Given the description of an element on the screen output the (x, y) to click on. 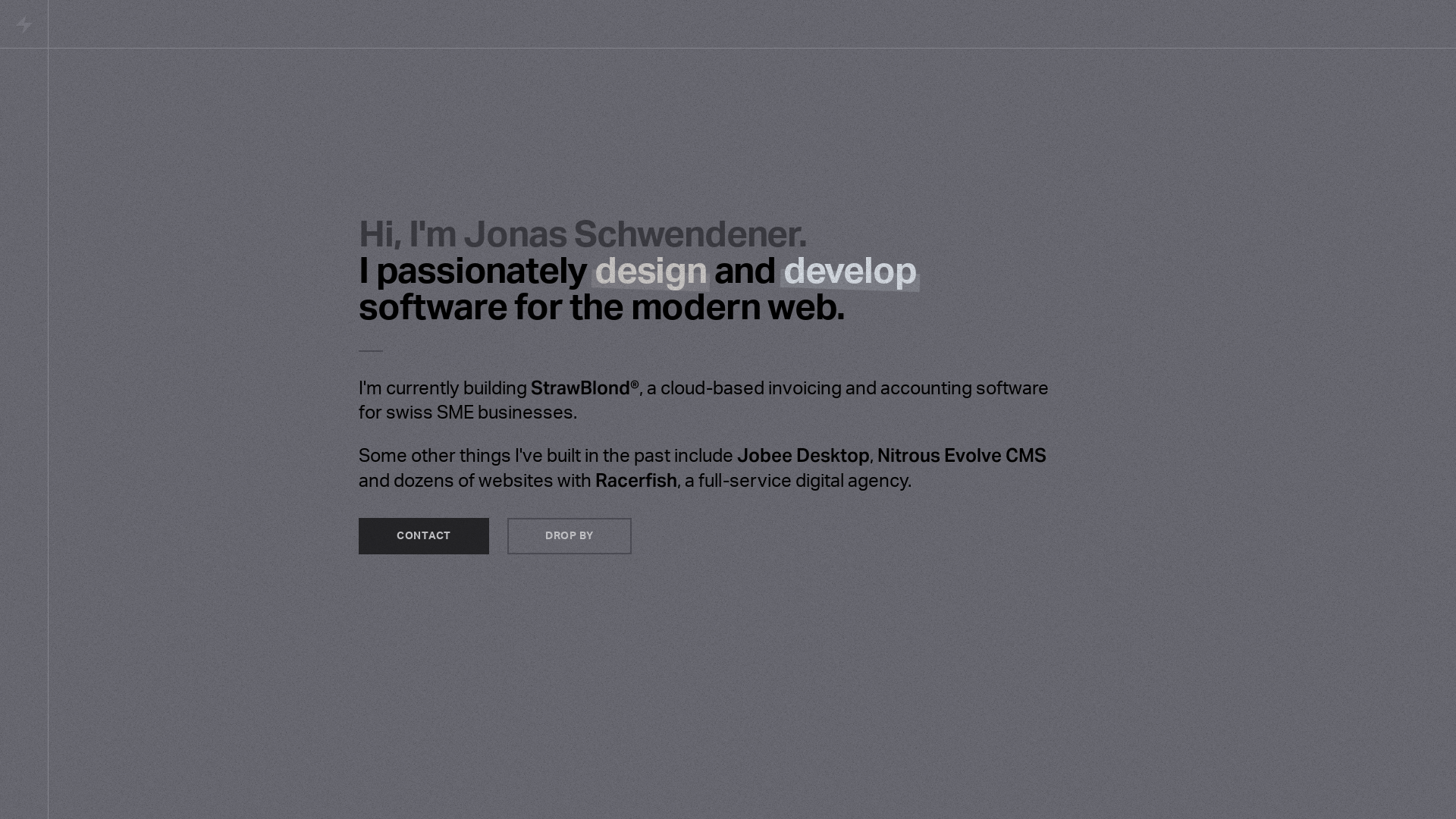
Jobee Desktop Element type: text (803, 454)
DROP BY Element type: text (569, 535)
CONTACT Element type: text (423, 535)
Racerfish Element type: text (636, 480)
Nitrous Evolve CMS Element type: text (961, 454)
